Given the description of an element on the screen output the (x, y) to click on. 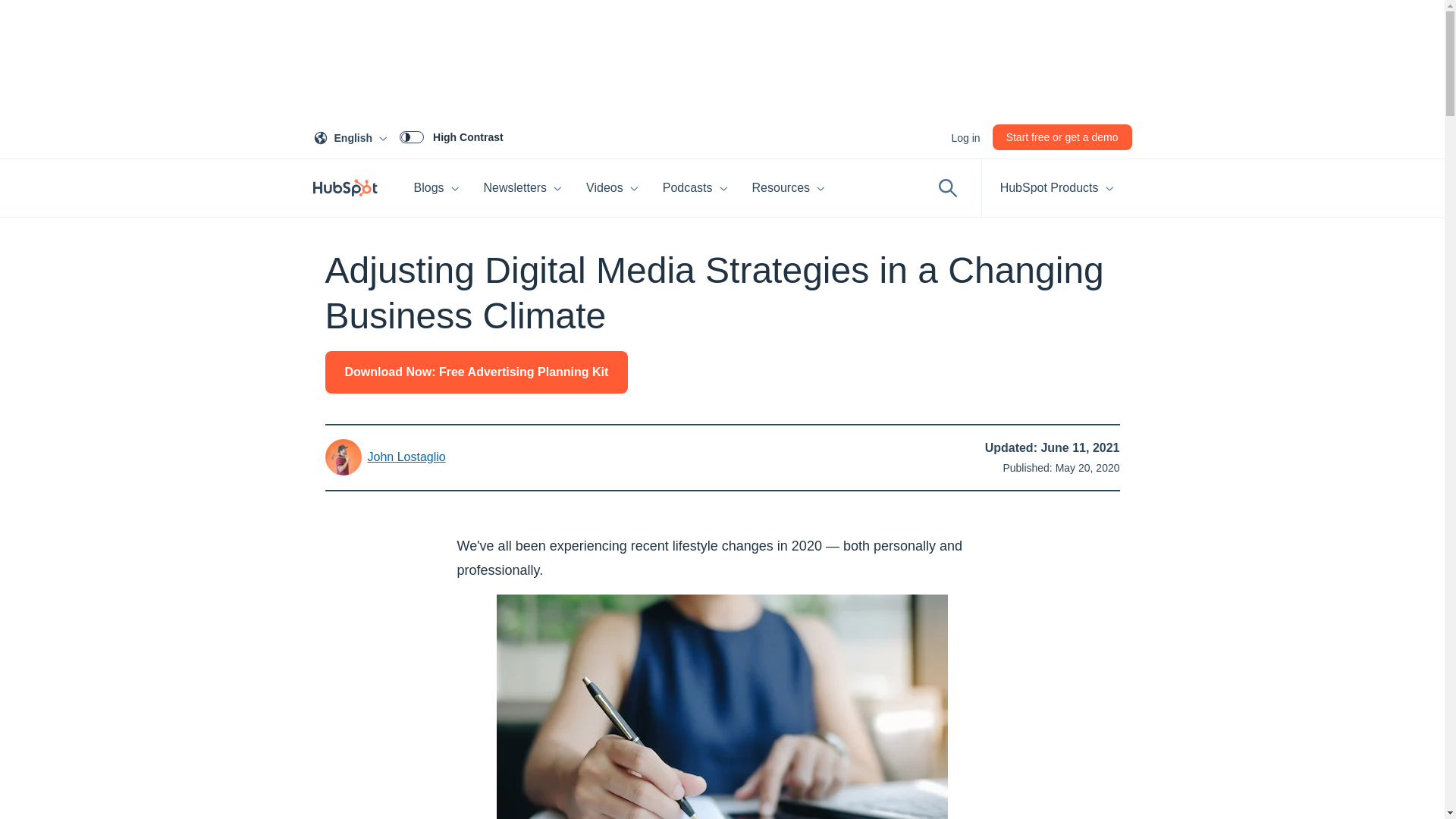
Start free or get a demo (1062, 136)
High Contrast (450, 137)
Newsletters (523, 187)
Log in (964, 137)
Videos (611, 187)
Blogs (436, 187)
